Given the description of an element on the screen output the (x, y) to click on. 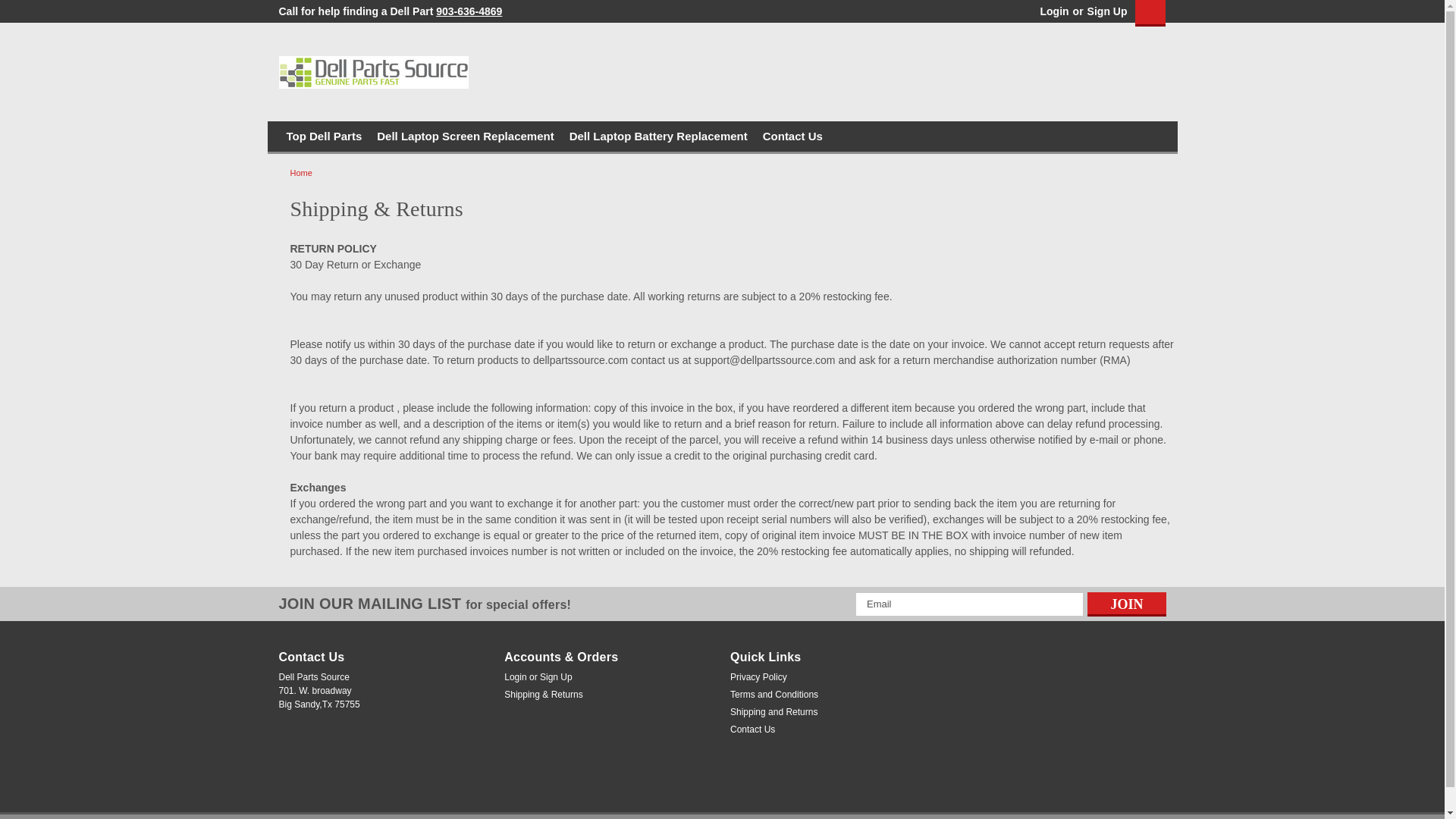
Dell Parts Source (373, 72)
Login (1054, 11)
Join (1126, 603)
903-636-4869 (468, 10)
Sign Up (1104, 11)
